Given the description of an element on the screen output the (x, y) to click on. 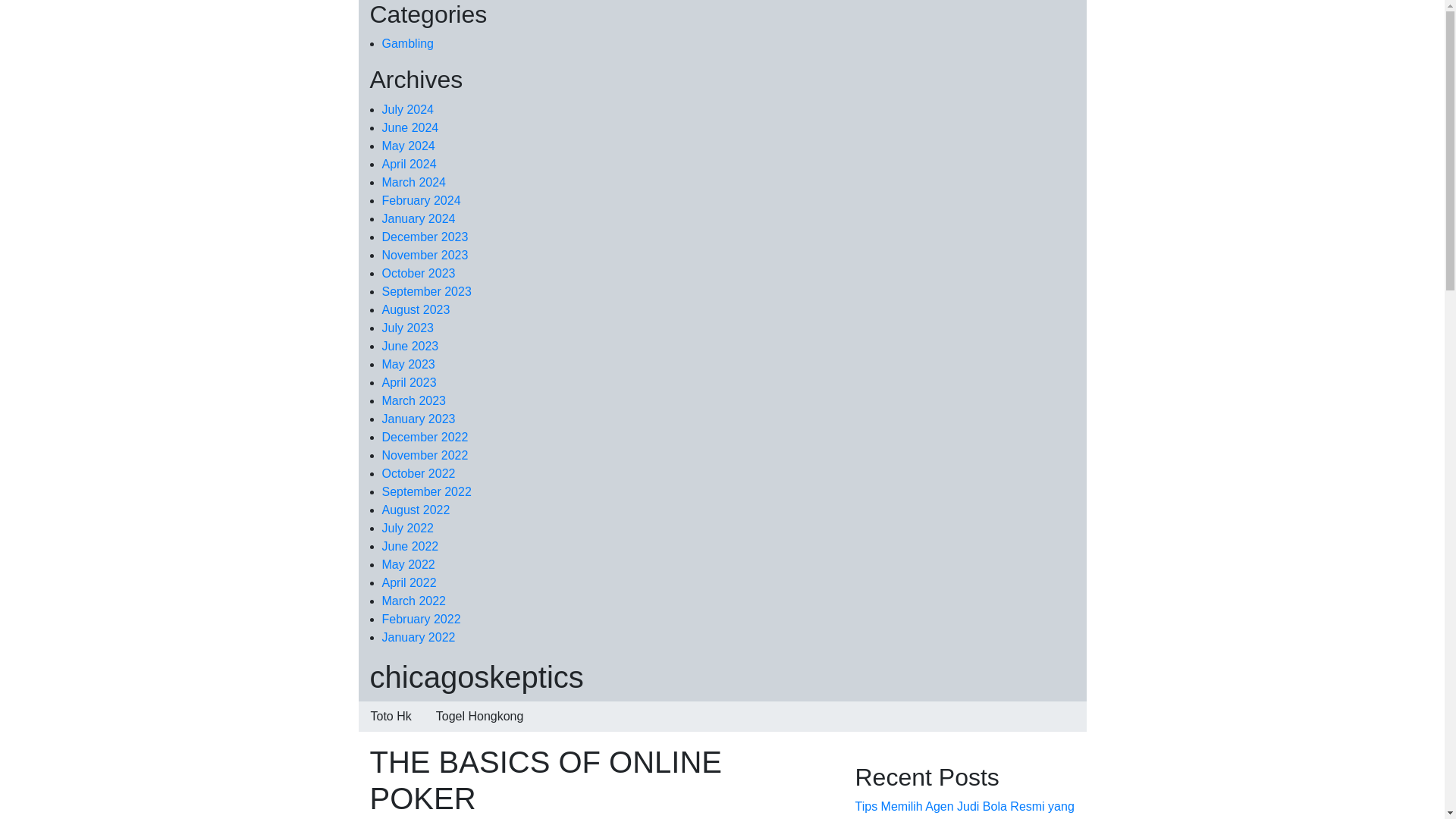
November 2023 (424, 254)
Toto Hk (390, 716)
August 2023 (415, 309)
January 2024 (418, 218)
November 2022 (424, 454)
May 2022 (408, 563)
December 2023 (424, 236)
April 2022 (408, 582)
April 2024 (408, 164)
September 2022 (426, 491)
April 2023 (408, 382)
October 2023 (418, 273)
March 2022 (413, 600)
March 2024 (413, 182)
October 2022 (418, 472)
